Given the description of an element on the screen output the (x, y) to click on. 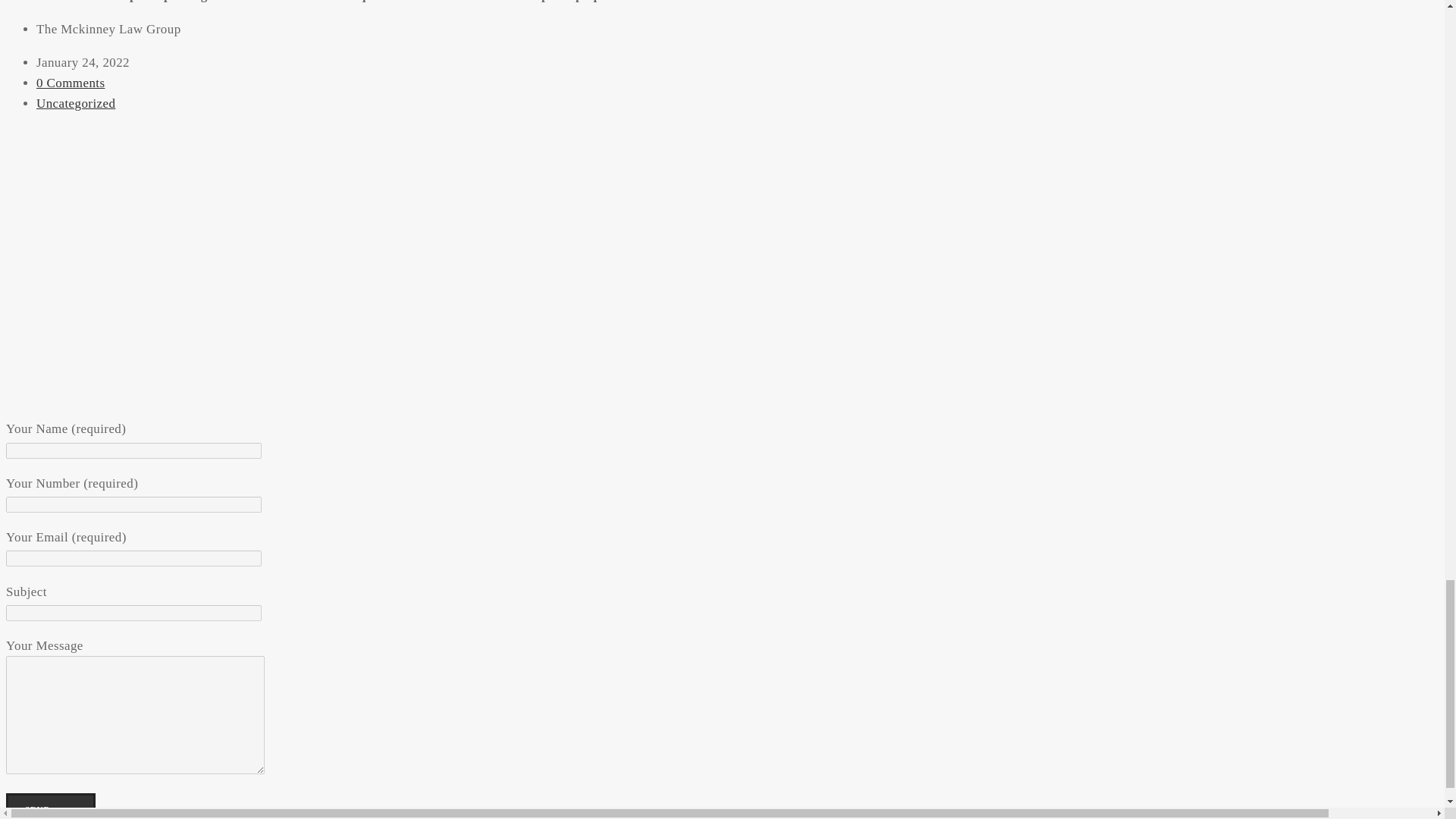
Uncategorized (75, 103)
0 Comments (70, 83)
